Given the description of an element on the screen output the (x, y) to click on. 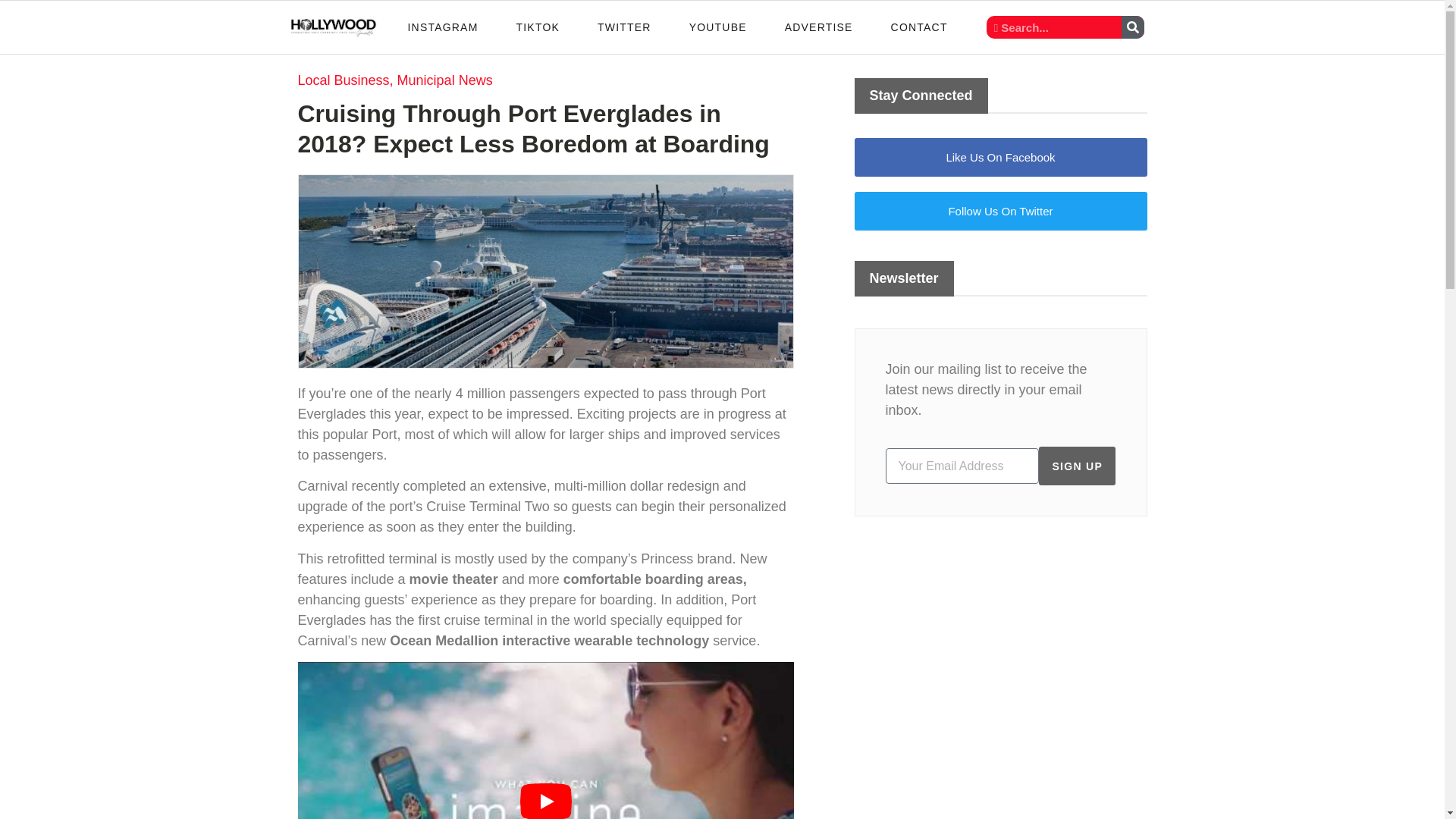
CONTACT (919, 26)
TWITTER (623, 26)
ADVERTISE (818, 26)
YOUTUBE (717, 26)
INSTAGRAM (443, 26)
TIKTOK (537, 26)
